Given the description of an element on the screen output the (x, y) to click on. 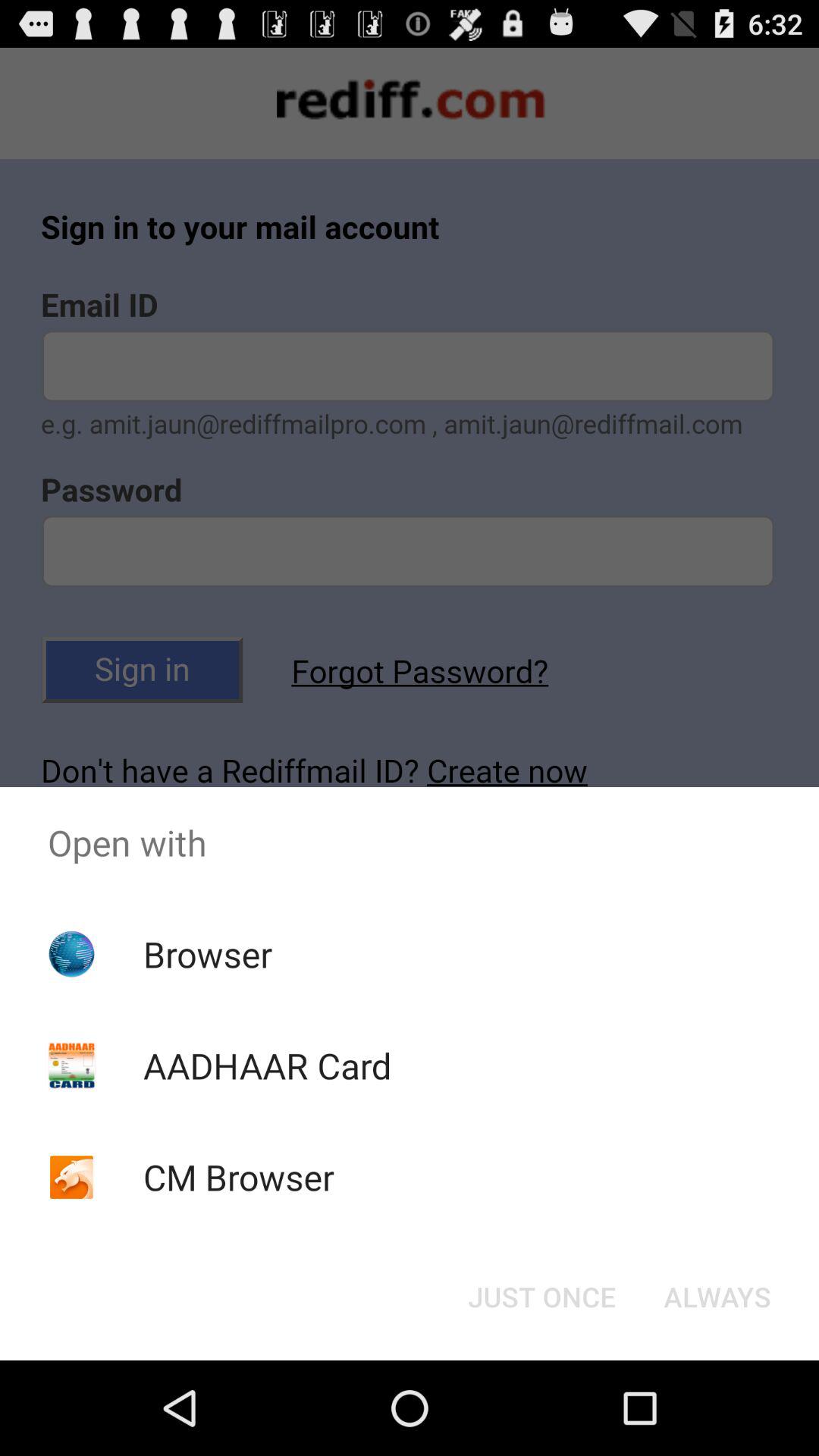
click the app below the open with app (541, 1296)
